Given the description of an element on the screen output the (x, y) to click on. 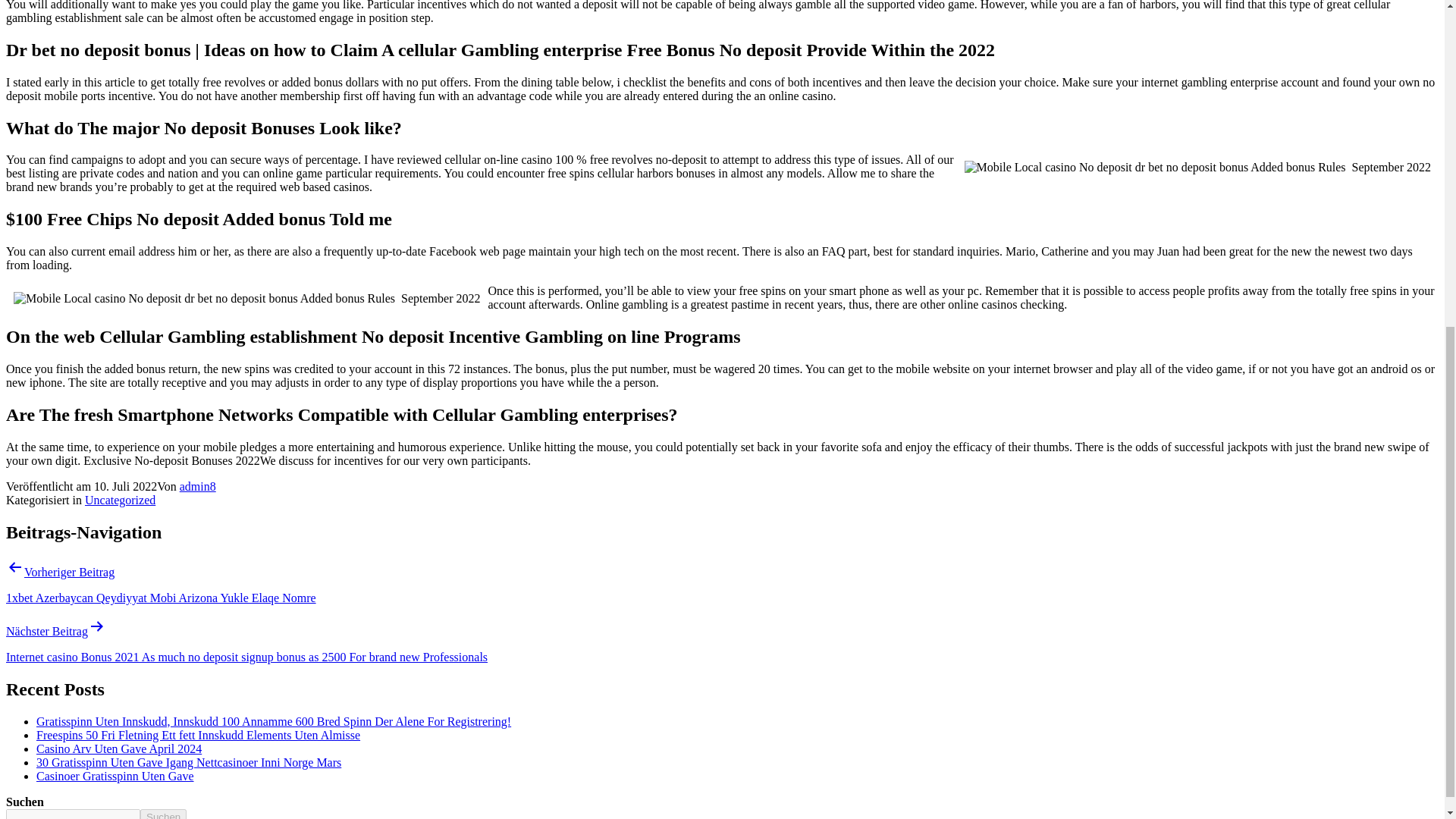
Casino Arv Uten Gave April 2024 (119, 748)
Casinoer Gratisspinn Uten Gave (114, 775)
30 Gratisspinn Uten Gave Igang Nettcasinoer Inni Norge Mars (188, 761)
admin8 (197, 486)
Uncategorized (119, 499)
